Given the description of an element on the screen output the (x, y) to click on. 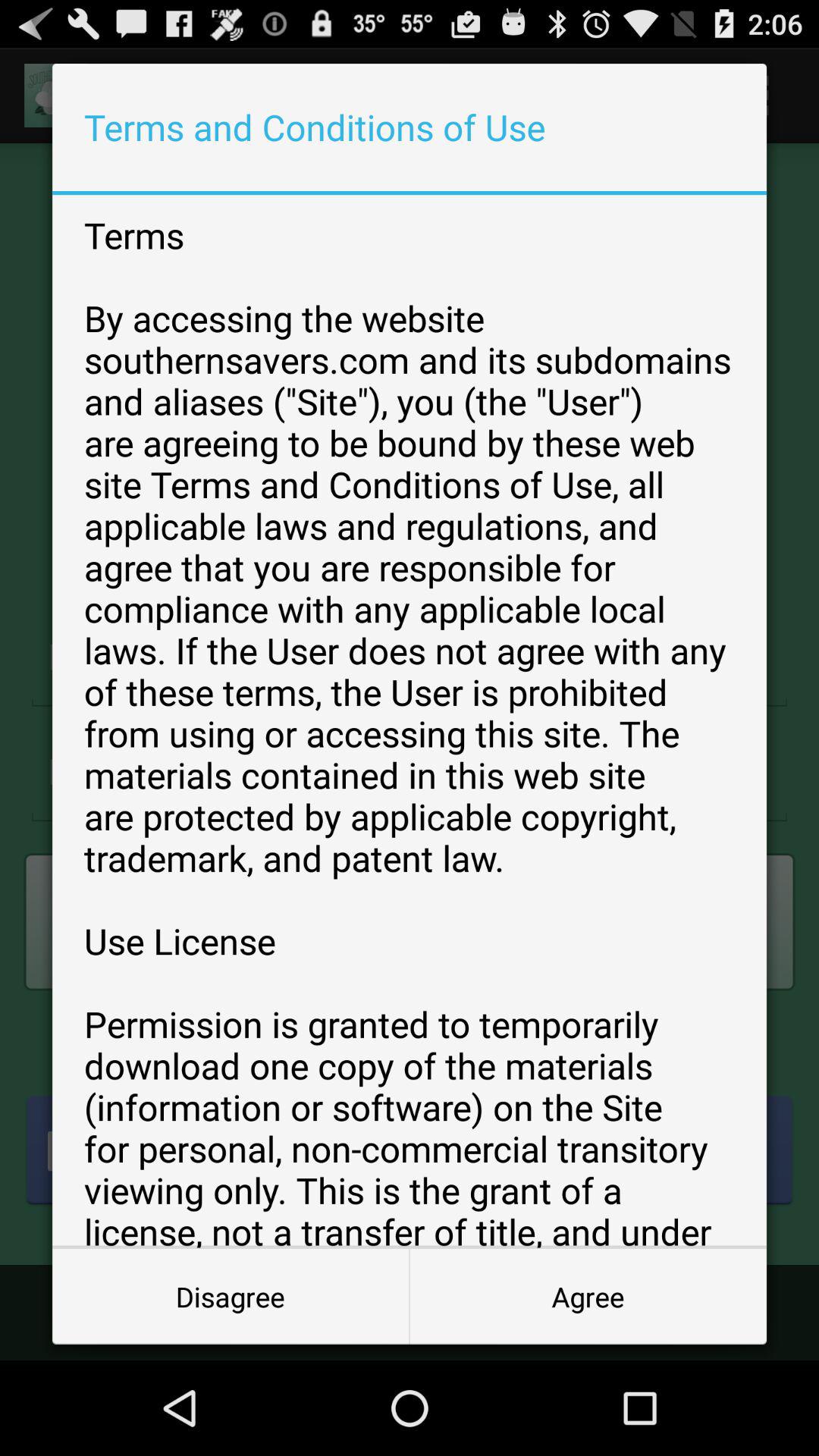
tap item at the bottom right corner (588, 1296)
